Given the description of an element on the screen output the (x, y) to click on. 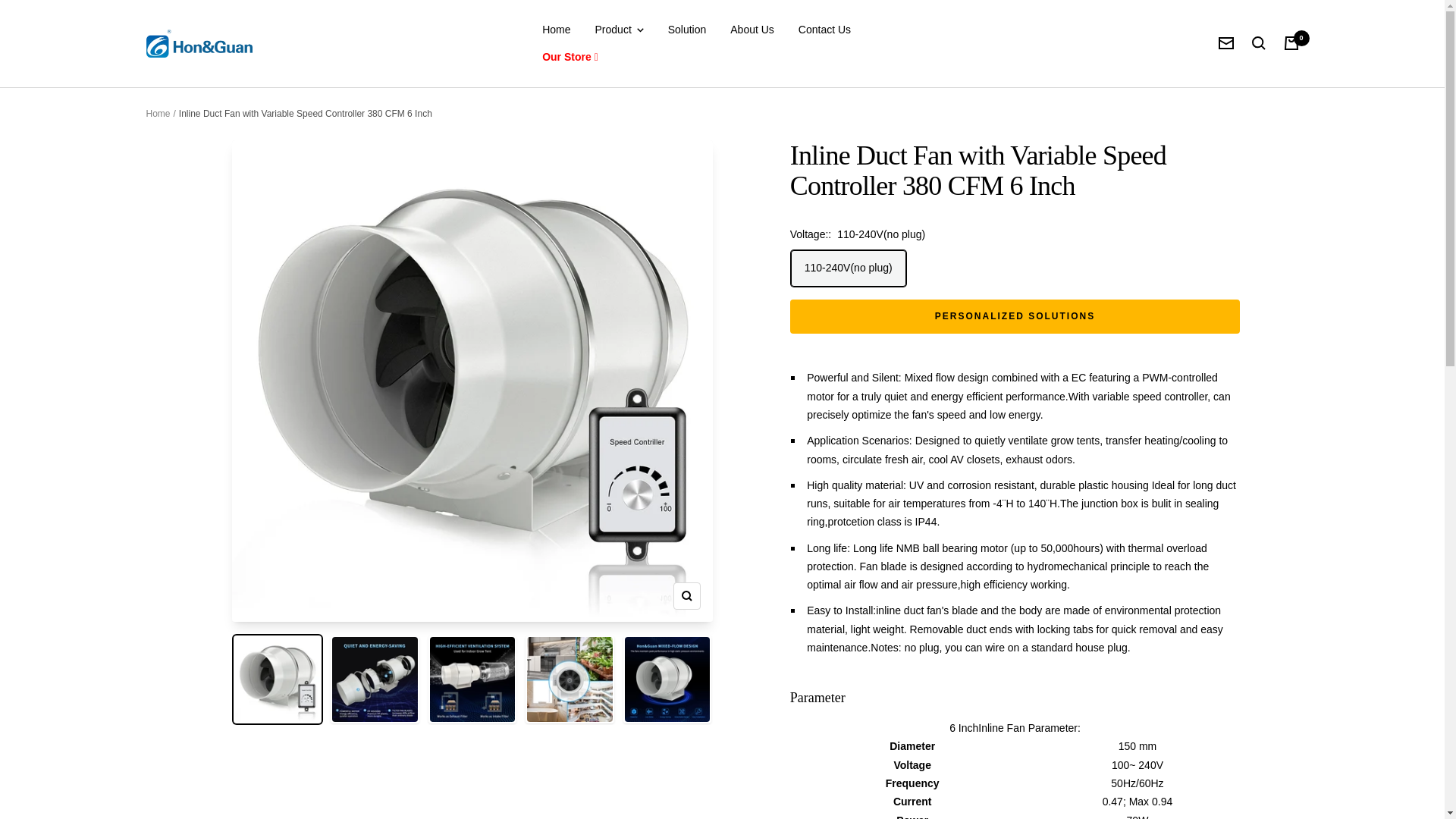
Newsletter (1225, 42)
Product (619, 29)
0 (1291, 42)
Solution (687, 29)
Home (555, 29)
Home (157, 113)
Contact Us (823, 29)
PERSONALIZED SOLUTIONS (1015, 316)
Zoom (686, 595)
About Us (752, 29)
